Given the description of an element on the screen output the (x, y) to click on. 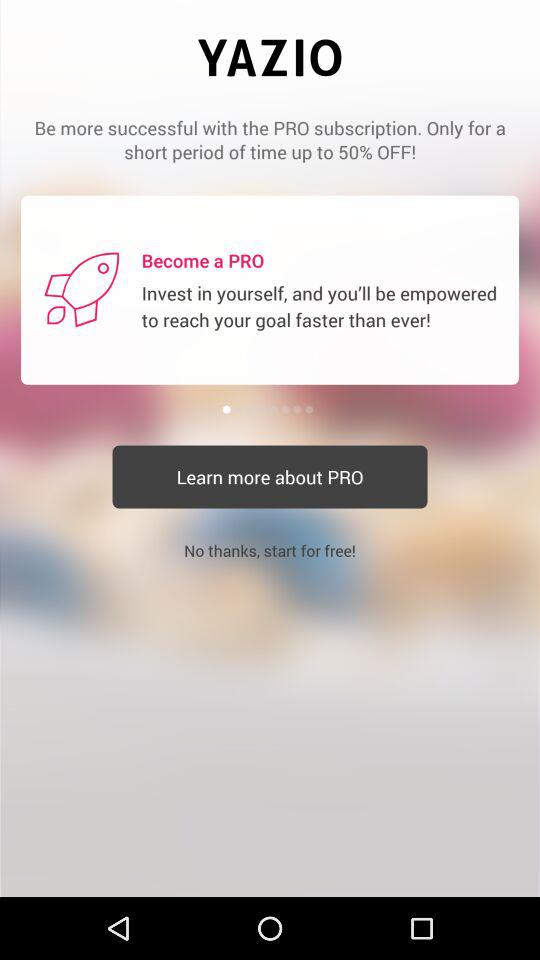
jump until no thanks start icon (269, 550)
